Given the description of an element on the screen output the (x, y) to click on. 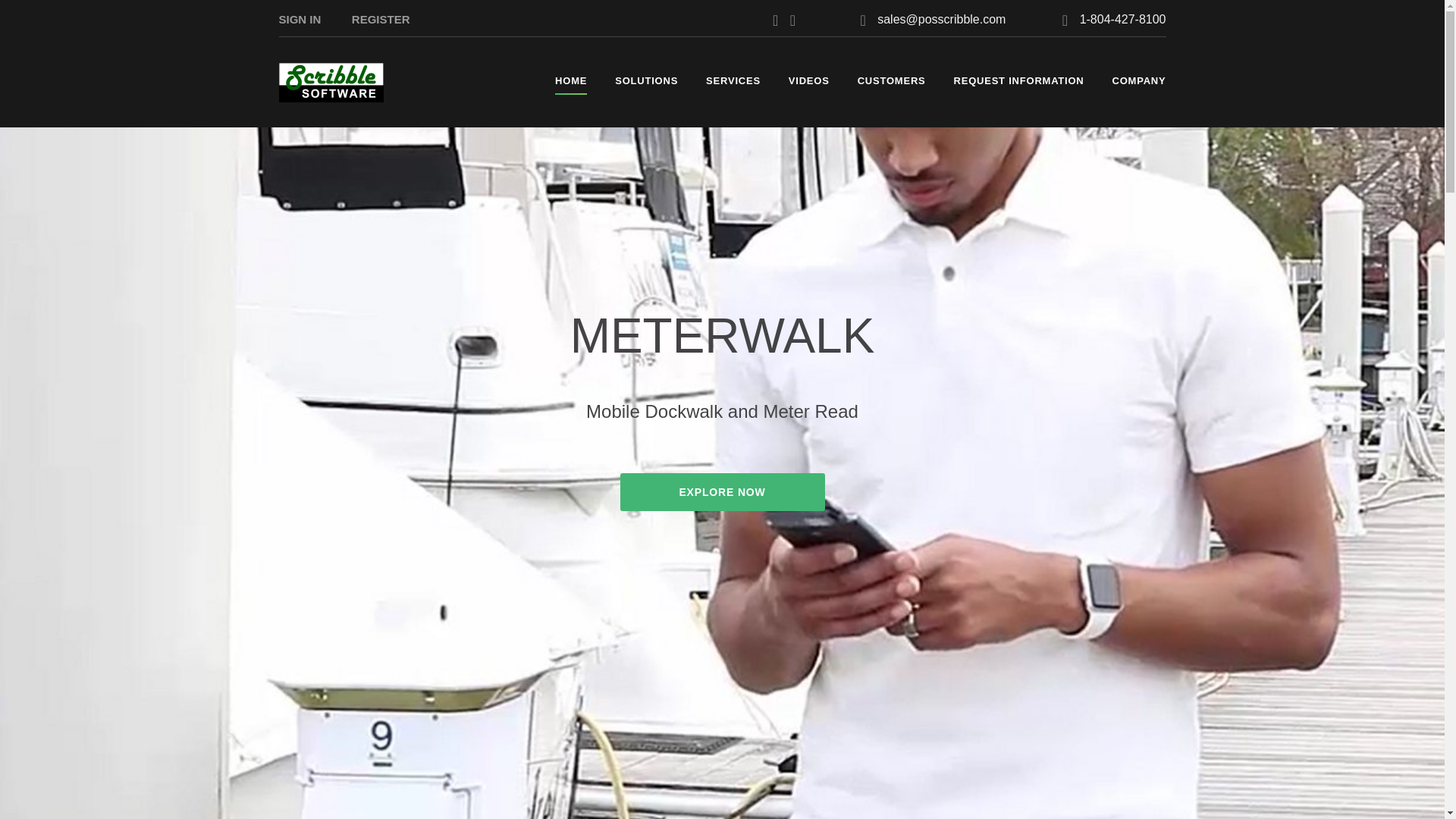
SIGN IN (300, 19)
HOME (570, 81)
1-804-427-8100 (1123, 19)
REGISTER (381, 19)
SOLUTIONS (646, 81)
